Given the description of an element on the screen output the (x, y) to click on. 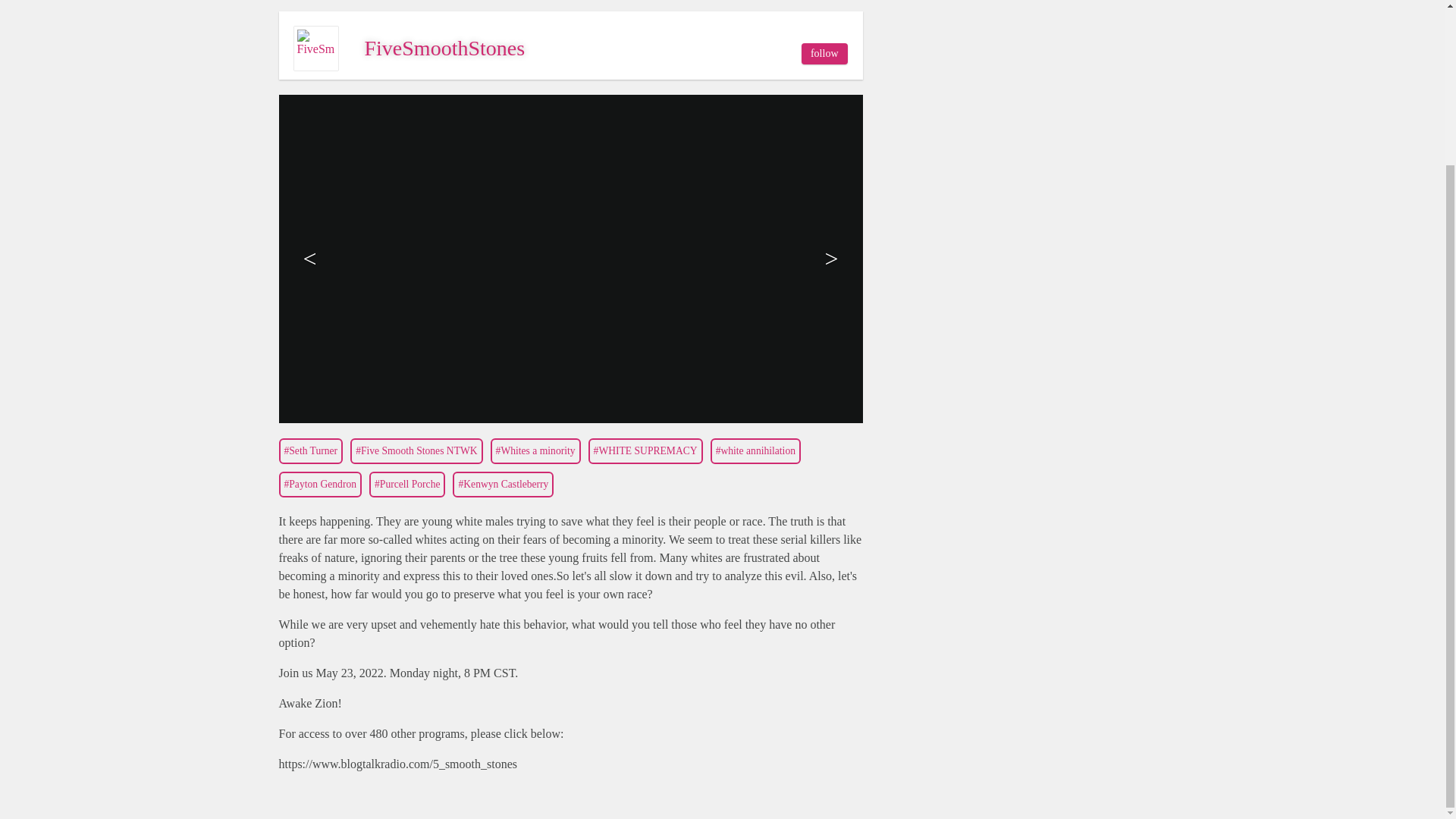
Follow FiveSmoothStones (824, 53)
